Given the description of an element on the screen output the (x, y) to click on. 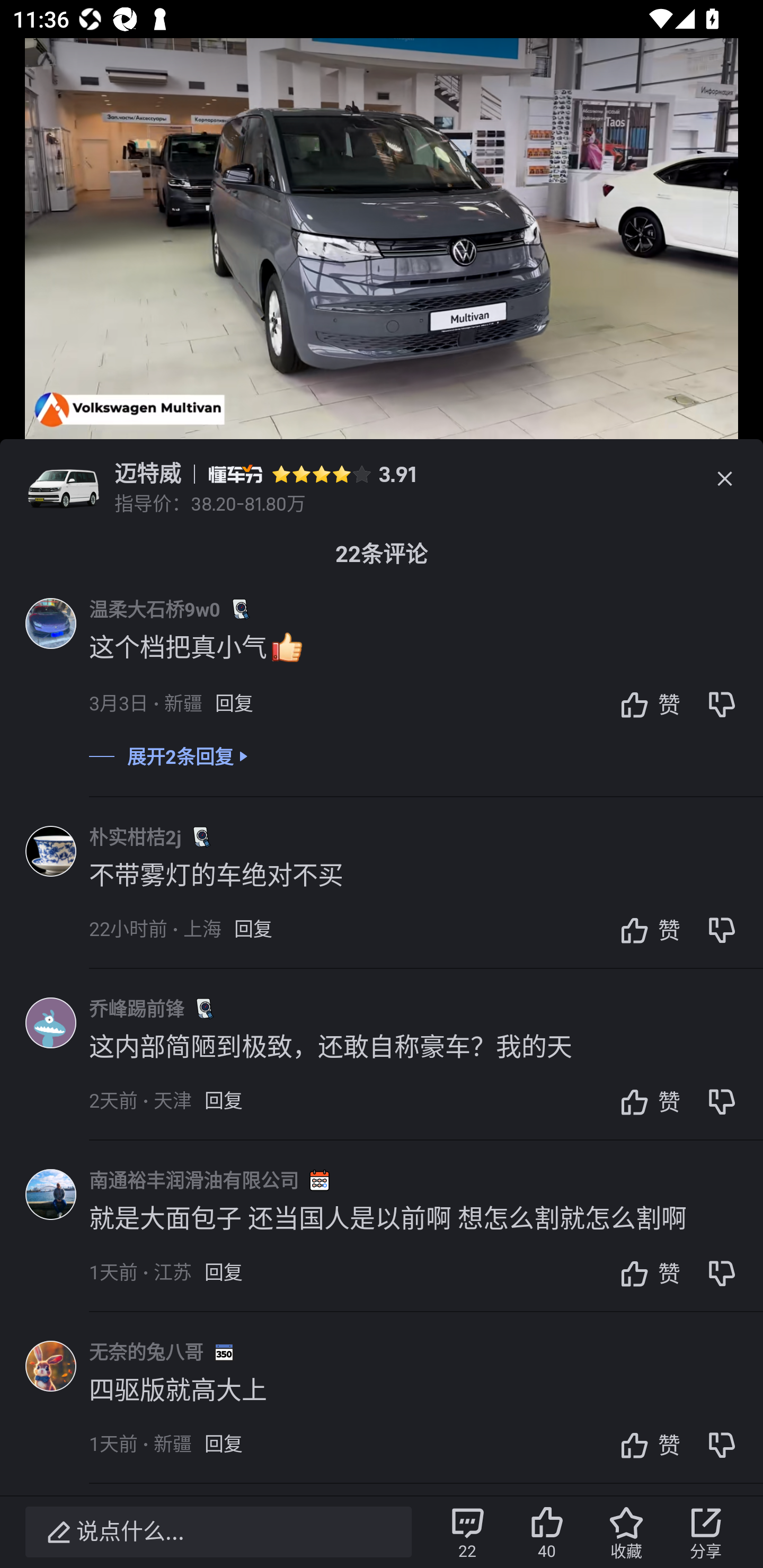
迈特威 3.91 指导价：38.20-81.80万 (381, 479)
温柔大石桥9w0 这个档把真小气[赞] 3月3日 < >新疆 回复 赞 (426, 667)
温柔大石桥9w0 (154, 609)
赞 (645, 703)
展开2条回复  (381, 768)
朴实柑桔2j 不带雾灯的车绝对不买 22小时前 < >上海 回复 赞 (426, 895)
朴实柑桔2j (135, 837)
赞 (645, 929)
乔峰踢前锋 这内部简陋到极致，还敢自称豪车？我的天 2天前 < >天津 回复 赞 (426, 1066)
乔峰踢前锋 (136, 1008)
赞 (645, 1101)
南通裕丰润滑油有限公司 (194, 1180)
赞 (645, 1273)
无奈的兔八哥 四驱版就高大上 1天前 < >新疆 回复 赞 (426, 1410)
无奈的兔八哥 (146, 1351)
赞 (645, 1444)
 22 (467, 1531)
40 (546, 1531)
收藏 (625, 1531)
 分享 (705, 1531)
 说点什么... (218, 1531)
